Given the description of an element on the screen output the (x, y) to click on. 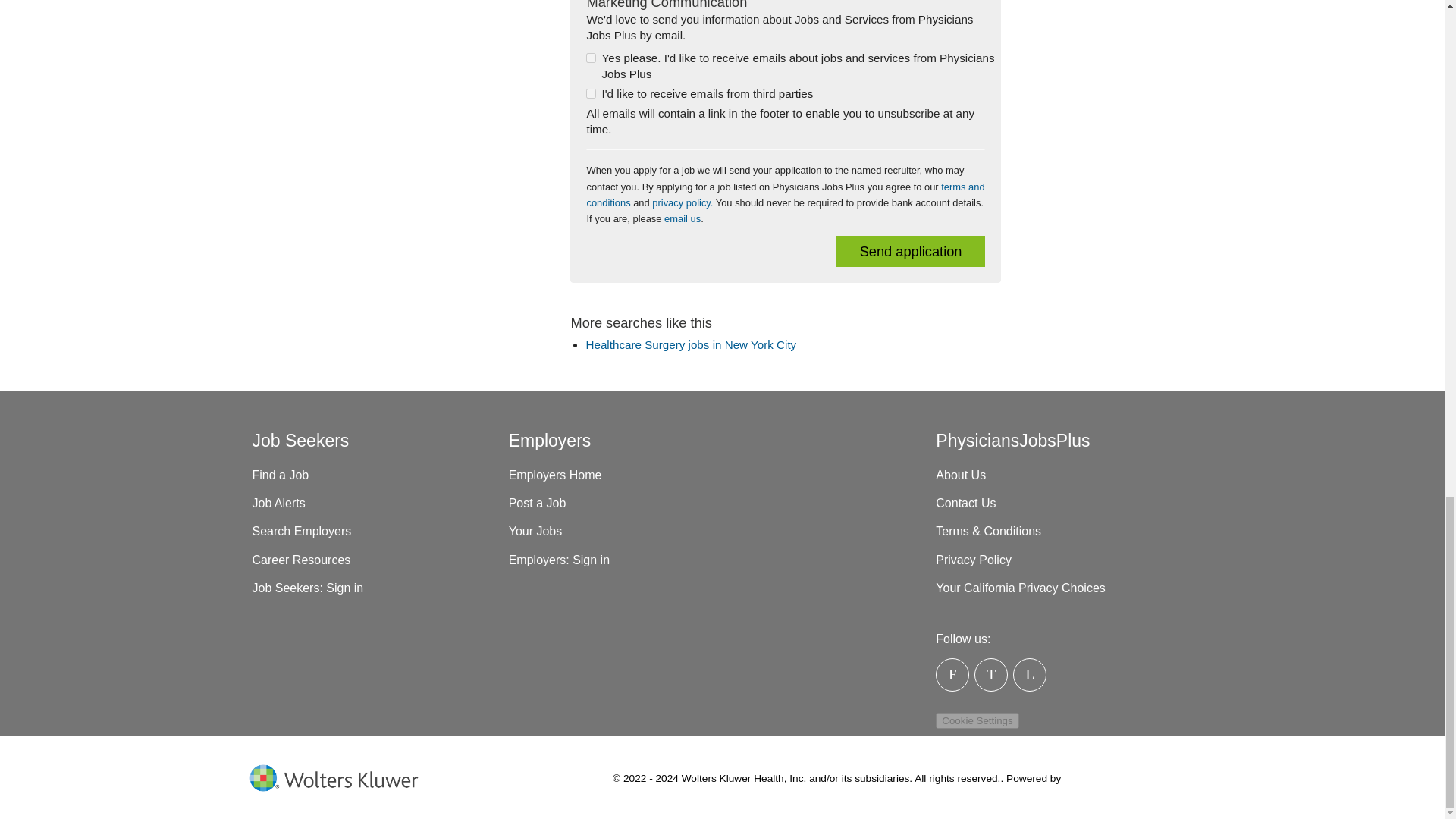
True (590, 58)
Send application (910, 251)
Send application (910, 251)
terms and conditions (785, 194)
True (590, 93)
email us (681, 218)
privacy policy. (682, 202)
Healthcare Surgery jobs in New York City (690, 344)
